Given the description of an element on the screen output the (x, y) to click on. 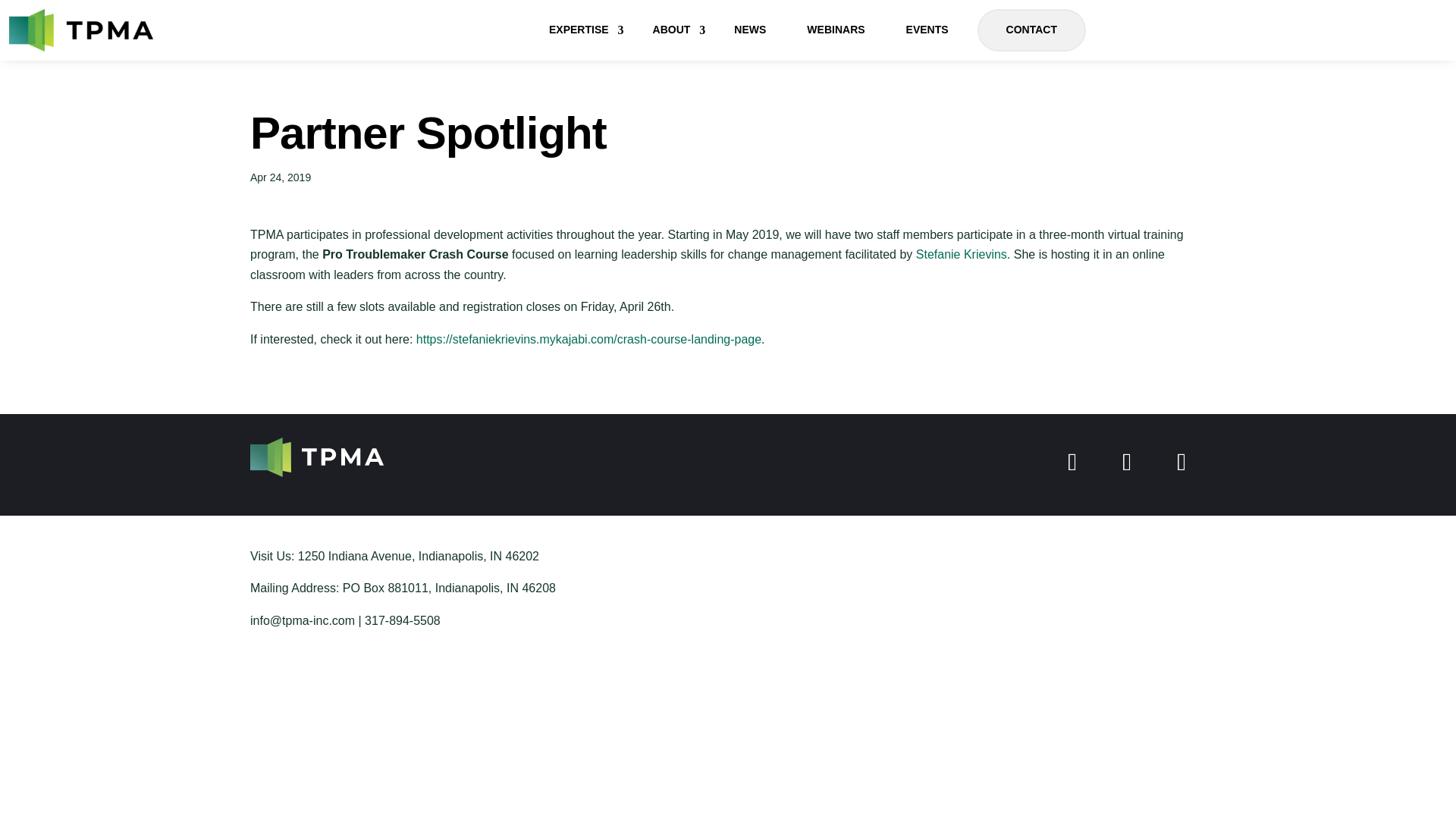
Follow on LinkedIn (1126, 461)
Stefanie Krievins (961, 254)
Follow on Facebook (1072, 461)
WEBINARS (835, 30)
EVENTS (926, 30)
EXPERTISE (580, 30)
NEWS (749, 30)
tpma-white (317, 456)
Follow on X (1181, 461)
ABOUT (673, 30)
